Given the description of an element on the screen output the (x, y) to click on. 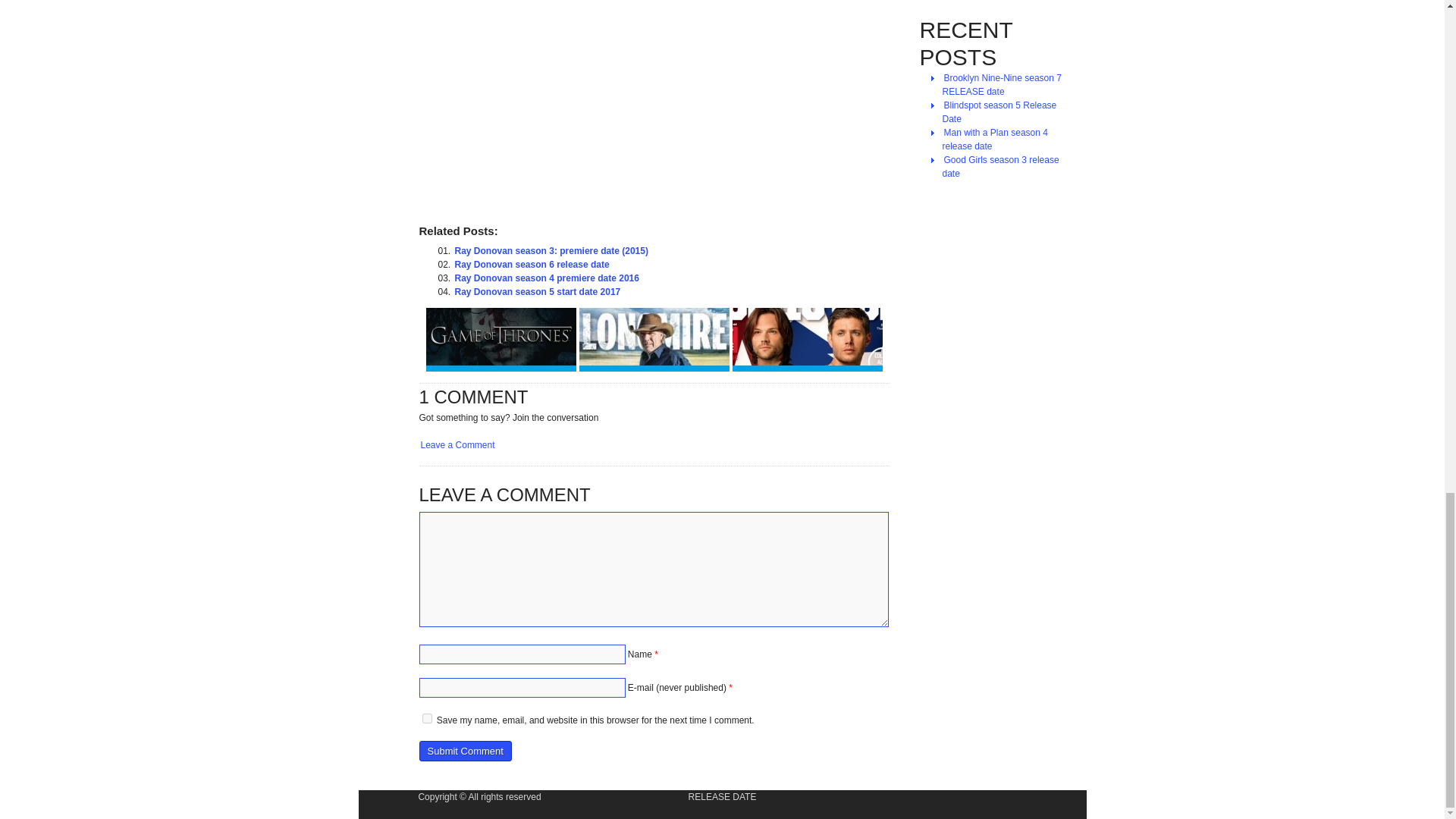
Leave a Comment (457, 445)
Blindspot season 5 Release Date (999, 112)
Ray Donovan season 5 start date 2017 (537, 291)
Man with a Plan season 4 release date (994, 139)
Ray Donovan season 4 premiere date 2016 (546, 278)
Submit Comment (465, 750)
Ray Donovan season 6 release date (531, 264)
Ray Donovan season 5 start date 2017 (537, 291)
Submit Comment (465, 750)
Good Girls season 3 release date (1000, 166)
yes (426, 717)
Brooklyn Nine-Nine season 7 RELEASE date (1001, 84)
Ray Donovan season 6 release date (531, 264)
Ray Donovan season 4 premiere date 2016 (546, 278)
